Given the description of an element on the screen output the (x, y) to click on. 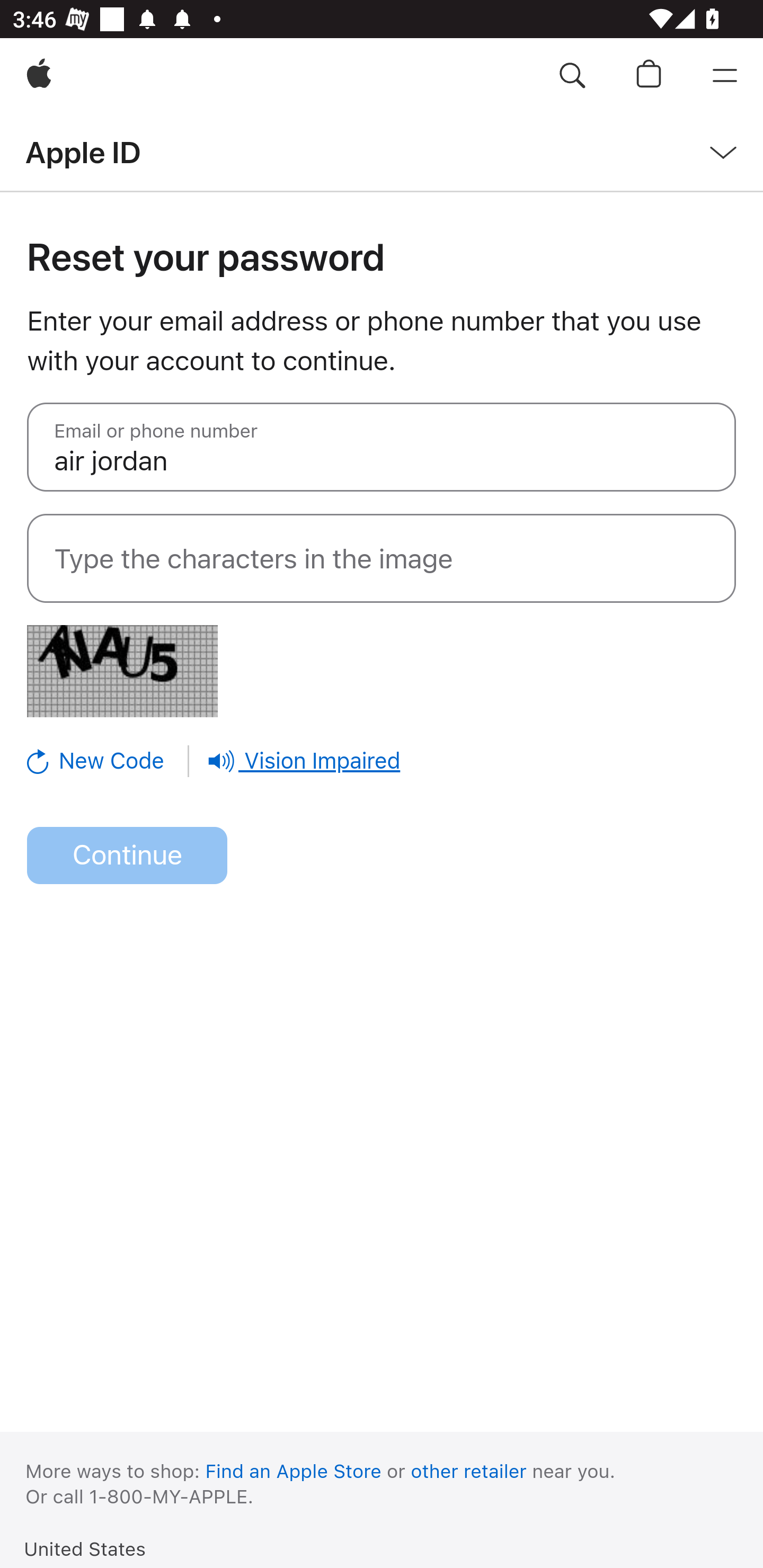
Apple (38, 75)
Search apple.com (572, 75)
Shopping Bag (648, 75)
Menu (724, 75)
Apple ID (83, 151)
air jordan (381, 446)
 New Code (108, 760)
 Vision Impaired (304, 760)
Continue (126, 855)
Find an Apple Store (293, 1470)
other retailer (468, 1470)
United States (84, 1548)
